Given the description of an element on the screen output the (x, y) to click on. 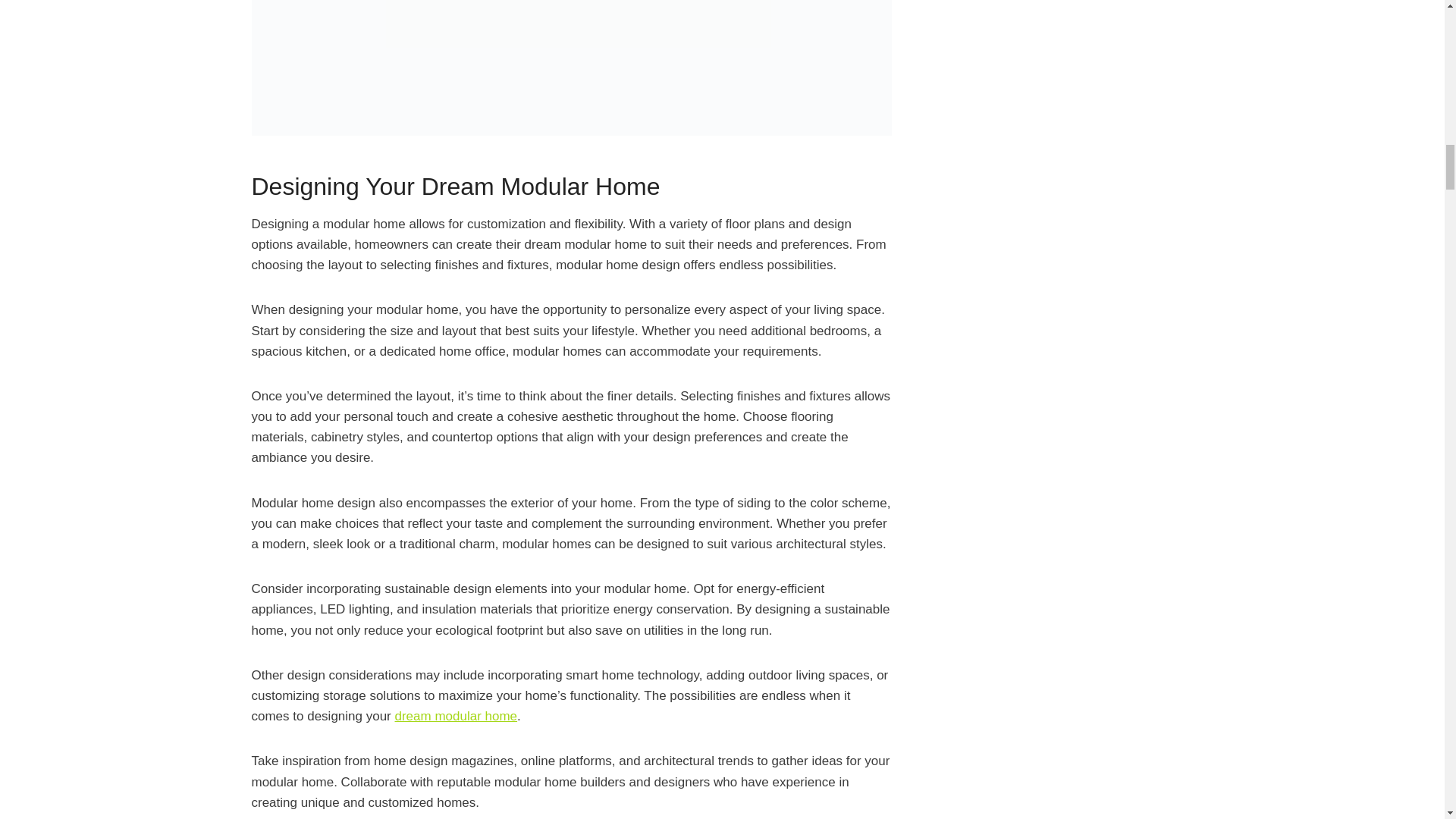
modular home construction (571, 67)
dream modular home (455, 716)
